Given the description of an element on the screen output the (x, y) to click on. 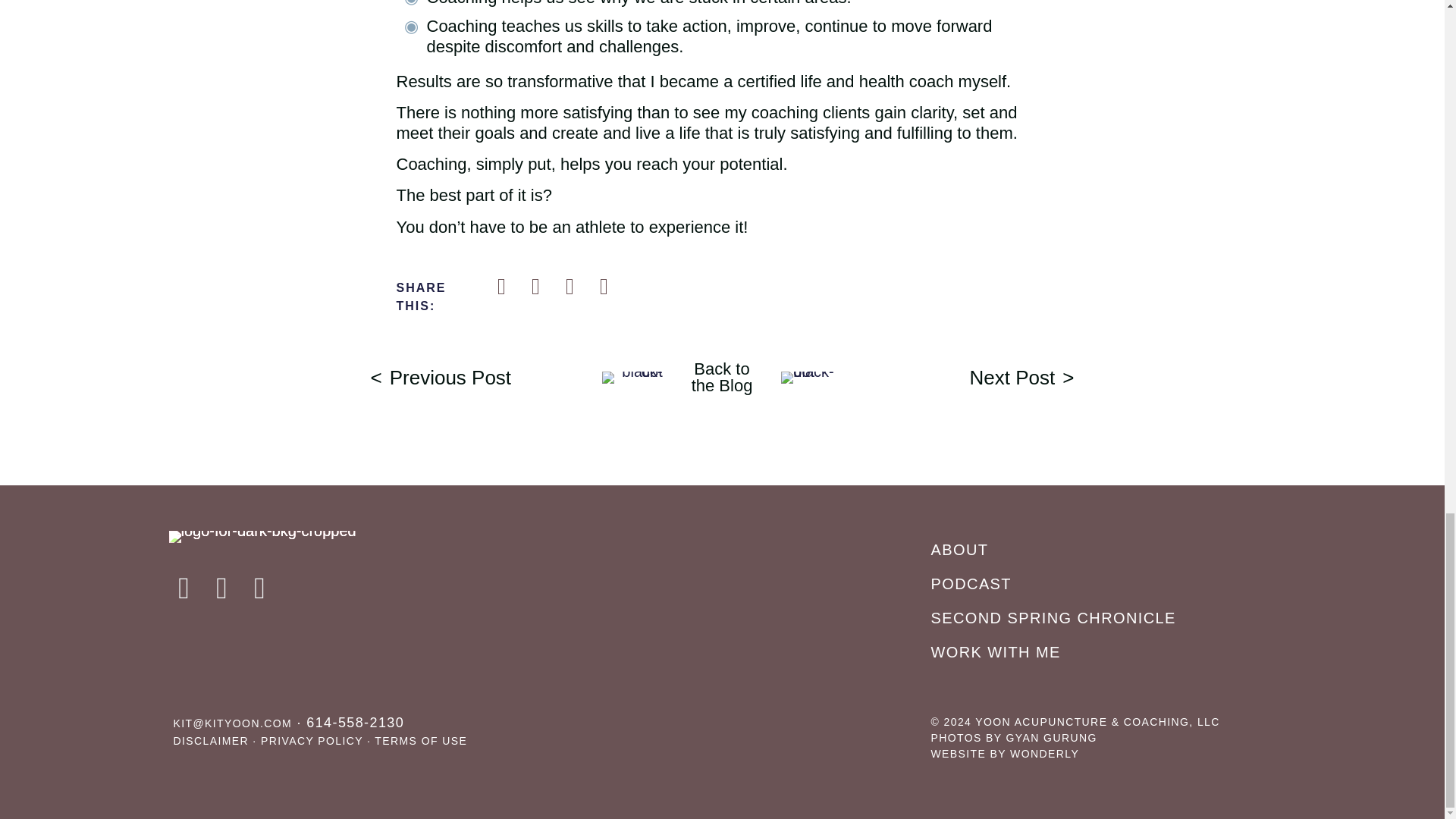
PODCAST (1101, 583)
PRIVACY POLICY (311, 740)
black-dot (810, 377)
Next Post (1021, 377)
GYAN GURUNG (1051, 737)
WONDERLY (1044, 753)
Previous Post (440, 377)
ABOUT (721, 376)
black-dot (1101, 549)
